Given the description of an element on the screen output the (x, y) to click on. 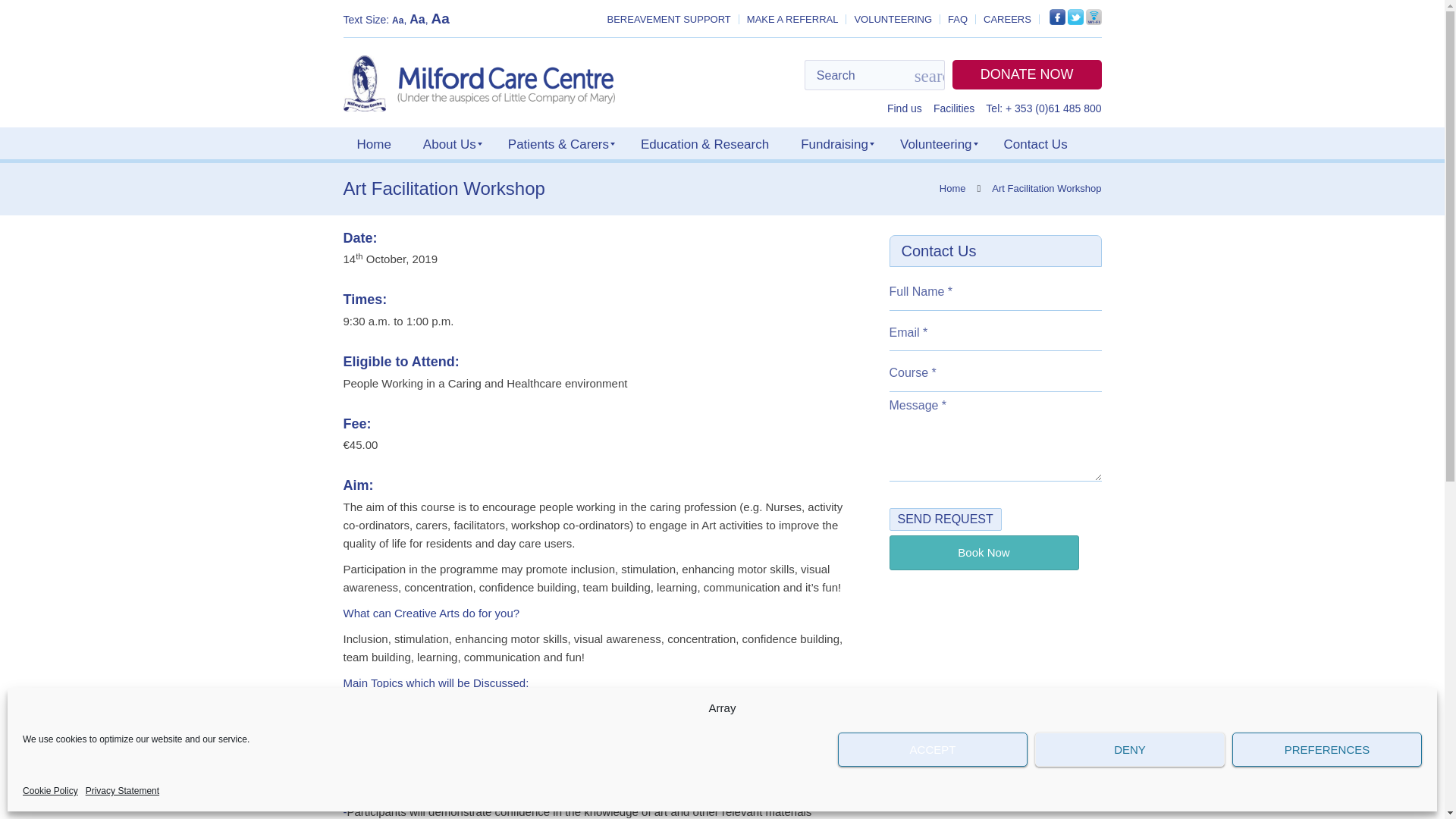
PREFERENCES (1326, 749)
Normal Text (397, 20)
Very Big Text (439, 18)
BEREAVEMENT SUPPORT (668, 19)
MAKE A REFERRAL (792, 19)
FAQ (957, 19)
DENY (1129, 749)
Aa (397, 20)
Home (373, 143)
Privacy Statement (121, 791)
Send Request (944, 518)
Big Text (417, 19)
Facilities (953, 107)
Cookie Policy (50, 791)
Aa (439, 18)
